Given the description of an element on the screen output the (x, y) to click on. 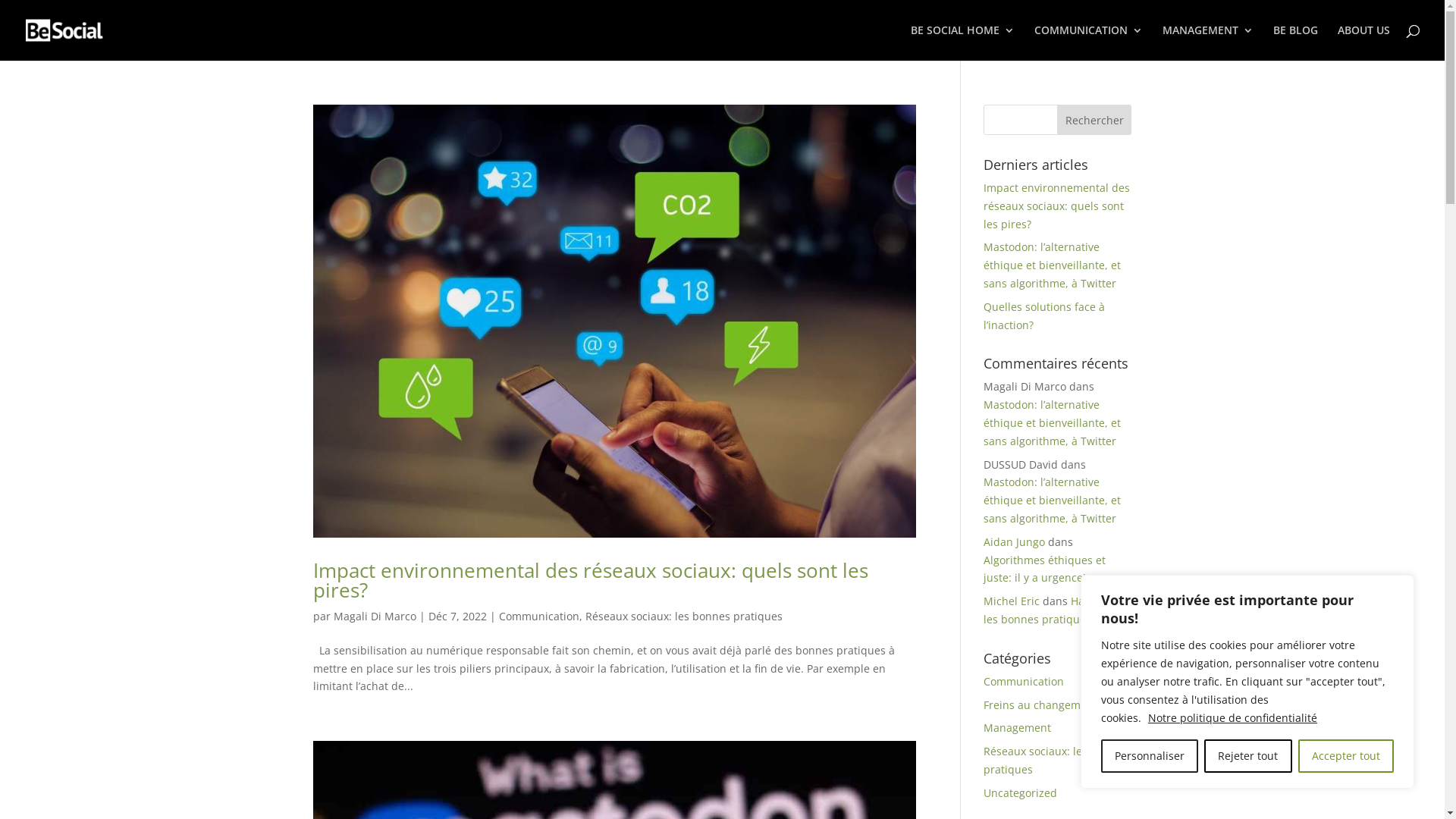
Communication Element type: text (1023, 681)
Magali Di Marco Element type: text (374, 615)
Accepter tout Element type: text (1345, 755)
Michel Eric Element type: text (1011, 600)
BE BLOG Element type: text (1295, 42)
BE SOCIAL HOME Element type: text (962, 42)
Uncategorized Element type: text (1020, 792)
ABOUT US Element type: text (1363, 42)
Hashtags: les bonnes pratiques Element type: text (1051, 609)
Personnaliser Element type: text (1149, 755)
COMMUNICATION Element type: text (1088, 42)
Aidan Jungo Element type: text (1013, 541)
Freins au changement Element type: text (1040, 704)
Rechercher Element type: text (1094, 119)
Rejeter tout Element type: text (1247, 755)
MANAGEMENT Element type: text (1207, 42)
Communication Element type: text (538, 615)
Management Element type: text (1017, 727)
